Given the description of an element on the screen output the (x, y) to click on. 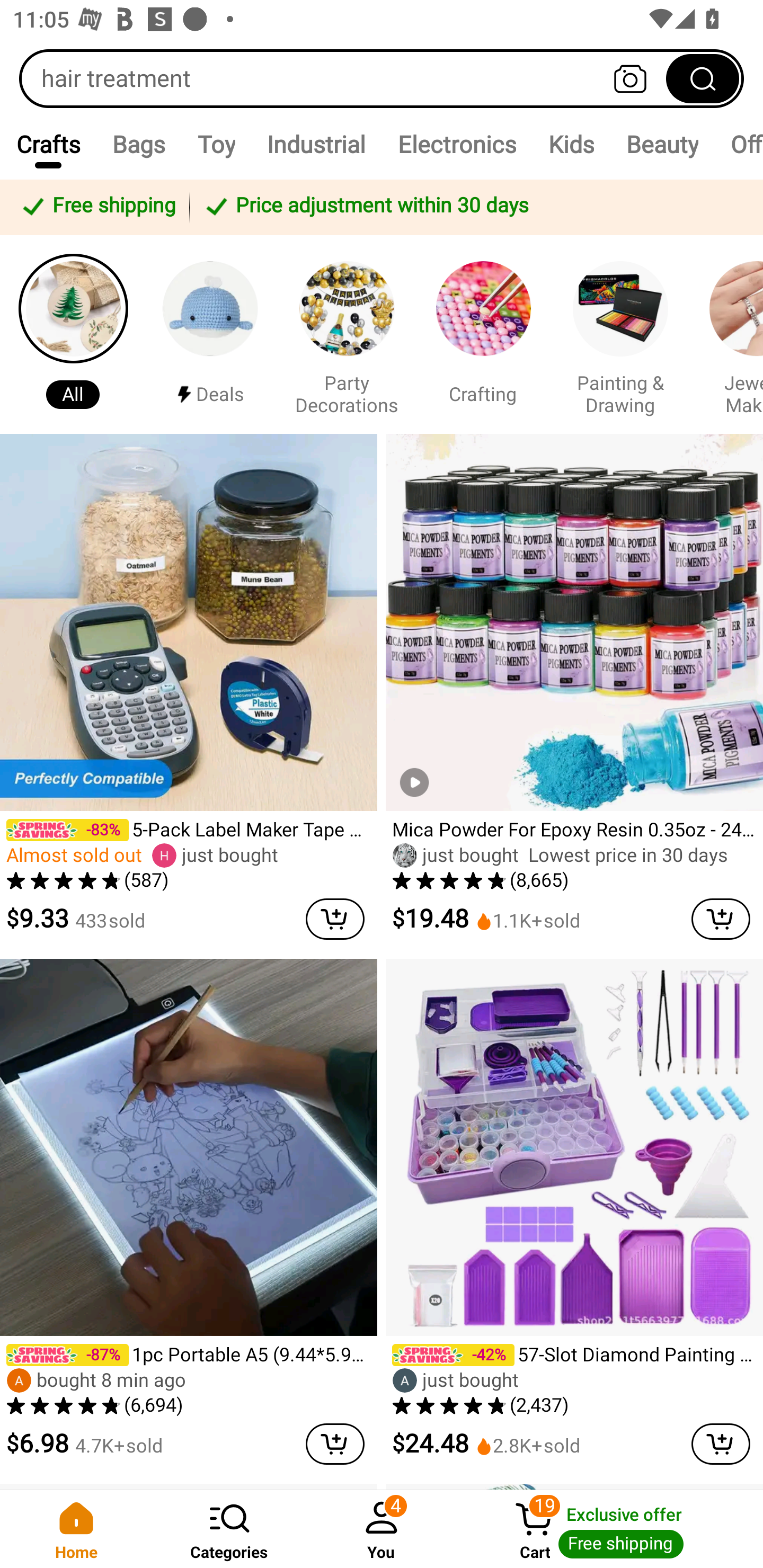
hair treatment (381, 78)
Crafts (48, 144)
Bags (138, 144)
Toy (216, 144)
Industrial (316, 144)
Electronics (456, 144)
Kids (570, 144)
Beauty (661, 144)
Free shipping (97, 206)
Price adjustment within 30 days (472, 206)
All (72, 333)
￼￼Deals (209, 333)
Party Decorations (346, 333)
Crafting (482, 333)
Painting & Drawing (619, 333)
cart delete (334, 918)
cart delete (720, 918)
cart delete (334, 1443)
cart delete (720, 1443)
Home (76, 1528)
Categories (228, 1528)
You 4 You (381, 1528)
Cart 19 Cart Exclusive offer (610, 1528)
